Given the description of an element on the screen output the (x, y) to click on. 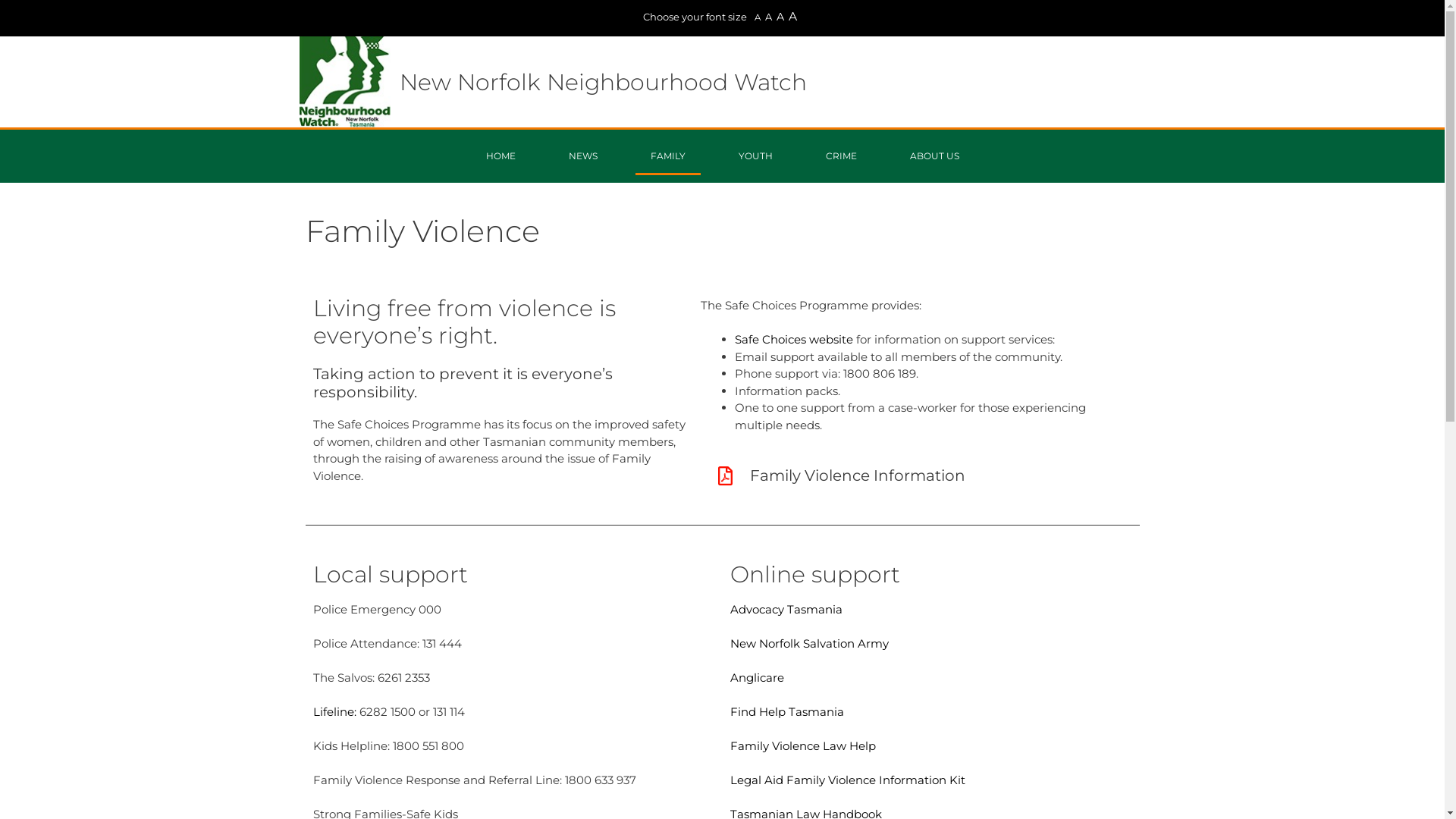
NEWS Element type: text (582, 156)
ABOUT US Element type: text (934, 156)
YOUTH Element type: text (755, 156)
Anglicare Element type: text (756, 677)
A Element type: text (757, 17)
FAMILY Element type: text (667, 156)
Advocacy Tasmania Element type: text (785, 609)
New Norfolk Salvation Army Element type: text (808, 643)
Family Violence Information Element type: text (857, 475)
Find Help Tasmania Element type: text (786, 711)
Legal Aid Family Violence Information Kit Element type: text (846, 779)
Lifeline: Element type: text (333, 711)
CRIME Element type: text (840, 156)
A Element type: text (768, 16)
Safe Choices website Element type: text (793, 339)
HOME Element type: text (500, 156)
Family Violence Law Help Element type: text (802, 745)
A Element type: text (780, 16)
A Element type: text (792, 16)
